Given the description of an element on the screen output the (x, y) to click on. 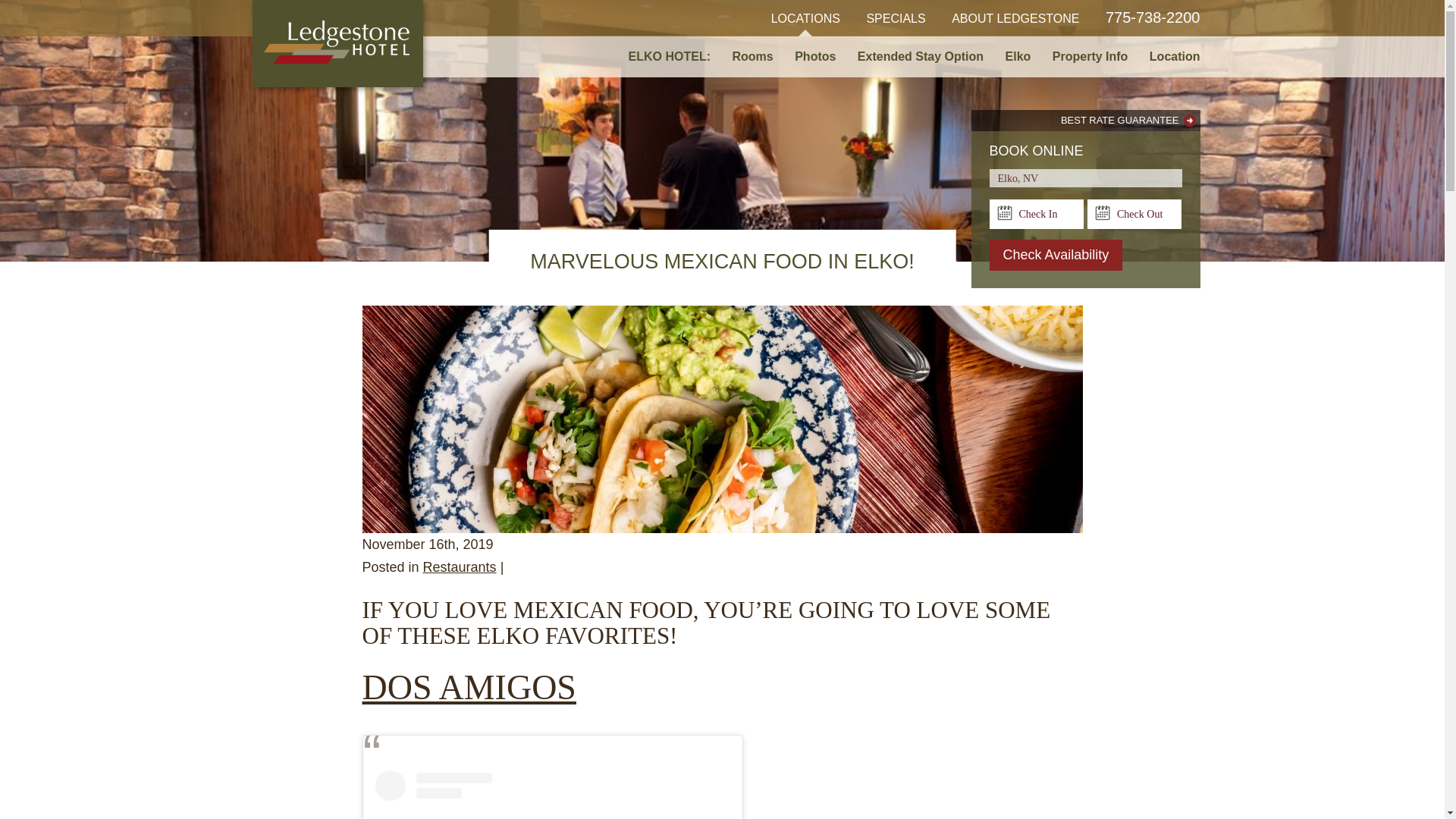
Rooms (753, 56)
LOCATIONS (805, 18)
Restaurants (459, 566)
Ledgestone Elko Hotel (336, 43)
Photos (815, 56)
View this post on Instagram (551, 794)
DOS AMIGOS (469, 687)
Property Info (1090, 56)
ELKO HOTEL: (669, 56)
Check Availability (1055, 255)
Elko (1018, 56)
ABOUT LEDGESTONE (1015, 18)
Check Availability (1055, 255)
Extended Stay Option (920, 56)
Location (1169, 56)
